Given the description of an element on the screen output the (x, y) to click on. 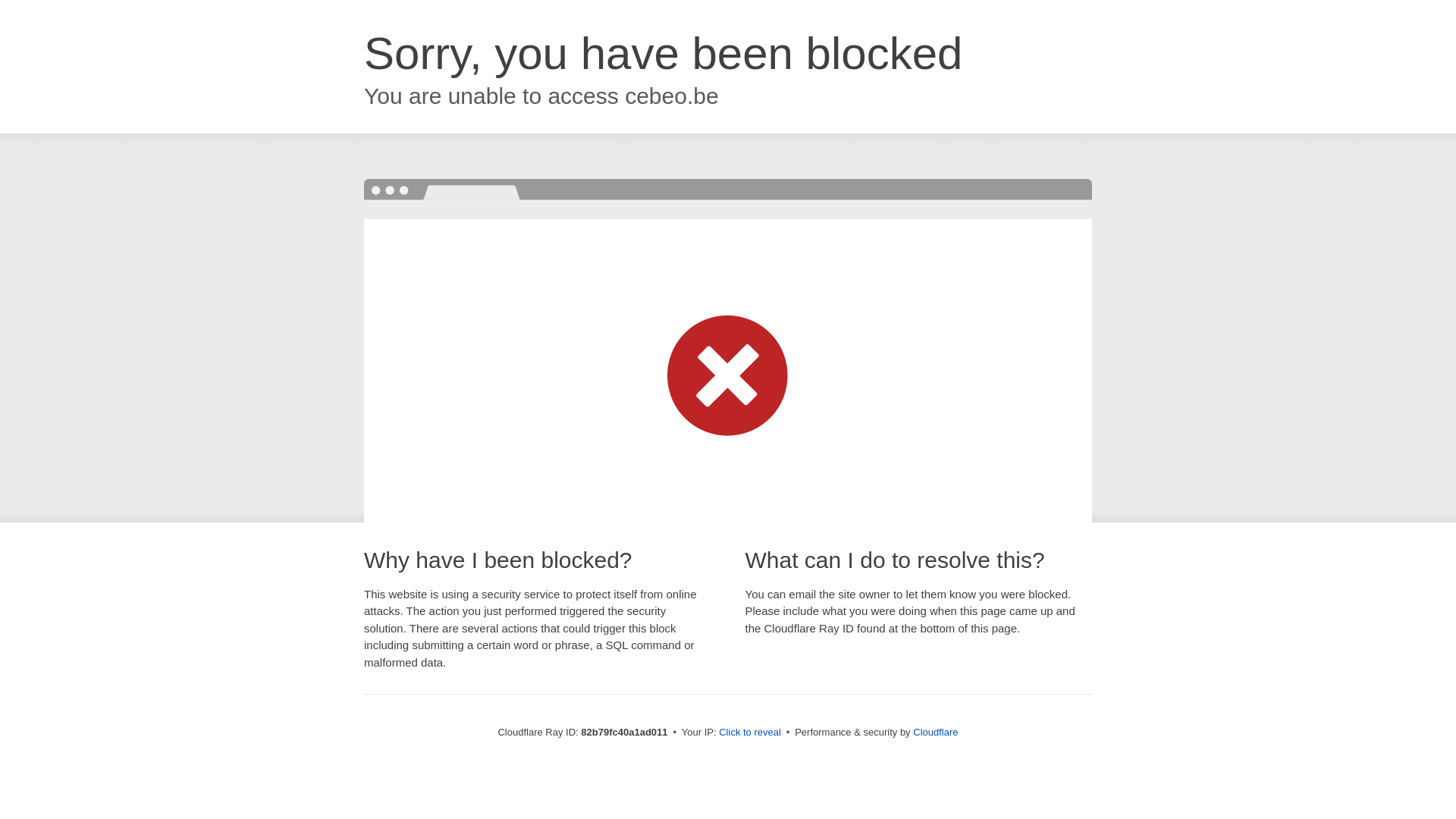
Cloudflare Element type: text (935, 731)
Click to reveal Element type: text (749, 732)
